Given the description of an element on the screen output the (x, y) to click on. 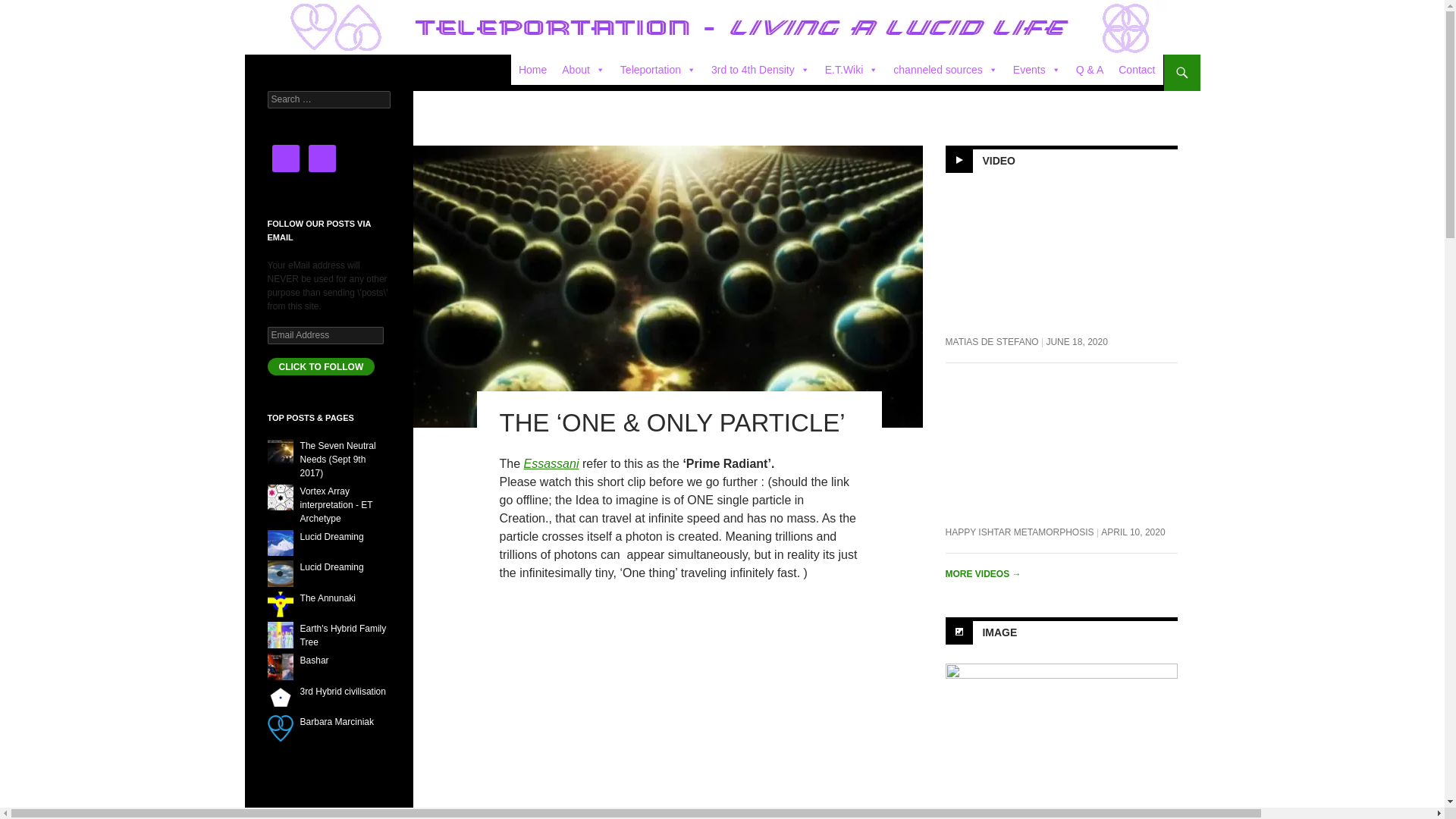
About (583, 69)
3rd to 4th Density (759, 69)
Essassani lore (551, 463)
Teleportation (657, 69)
E.T.Wiki (851, 69)
Home (532, 69)
